Given the description of an element on the screen output the (x, y) to click on. 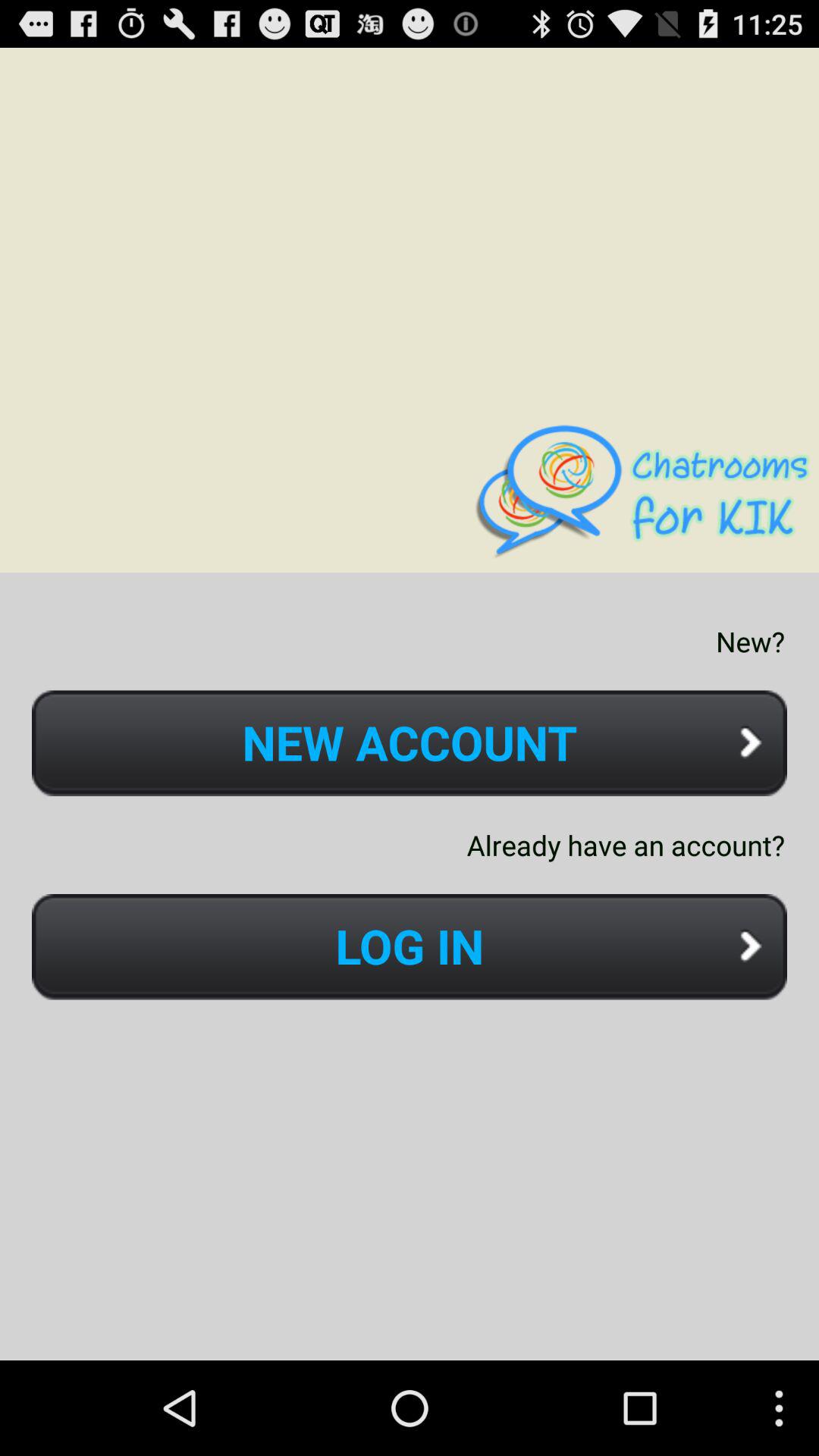
open new account button (409, 743)
